Given the description of an element on the screen output the (x, y) to click on. 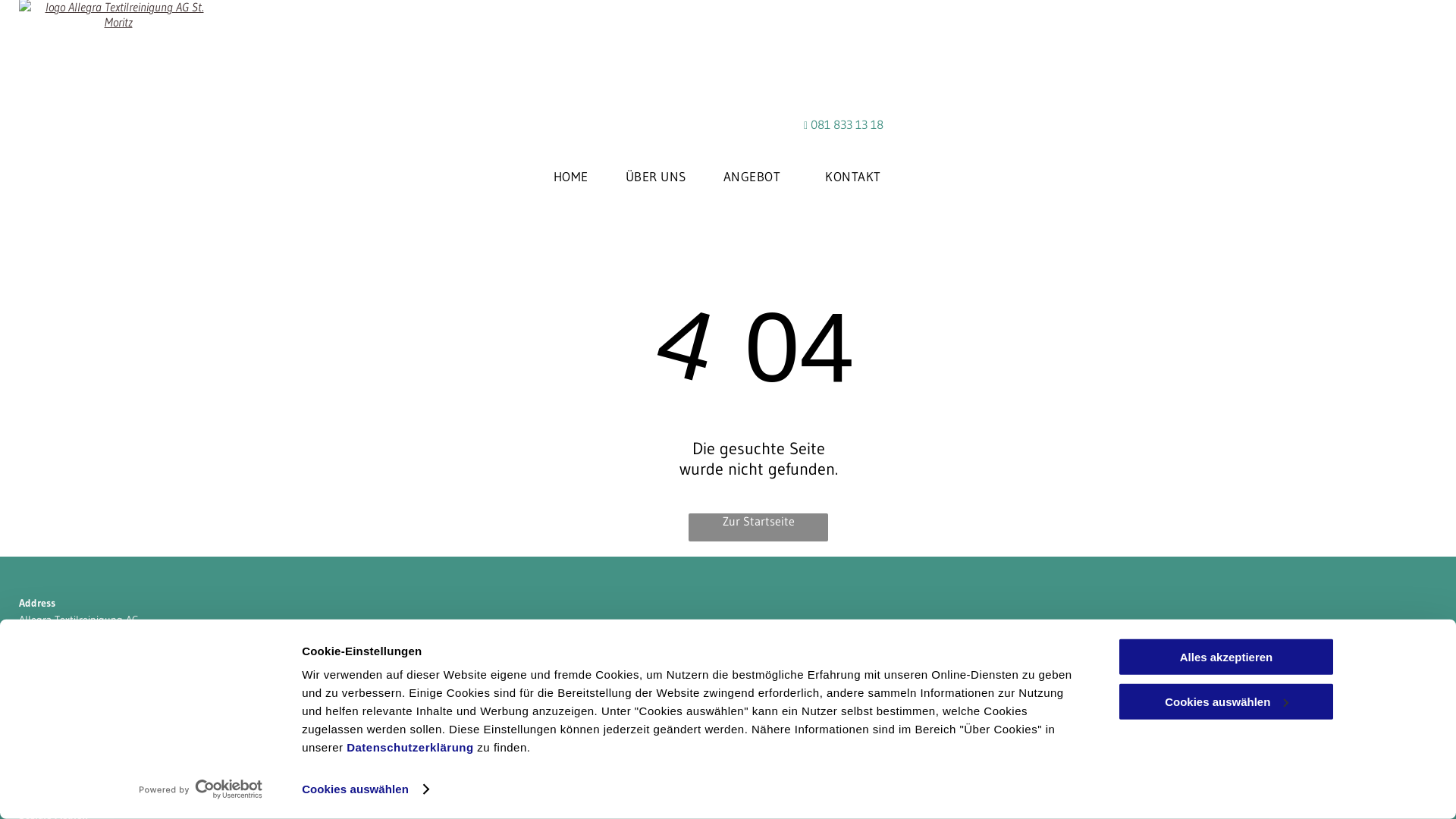
FashionCare Element type: text (46, 764)
Alles akzeptieren Element type: text (1225, 656)
KONTAKT Element type: text (852, 176)
HOME Element type: text (570, 176)
Zur Startseite Element type: text (758, 527)
VTS Verband Textilpflege Schweiz Element type: text (95, 746)
ANGEBOT Element type: text (755, 176)
